Given the description of an element on the screen output the (x, y) to click on. 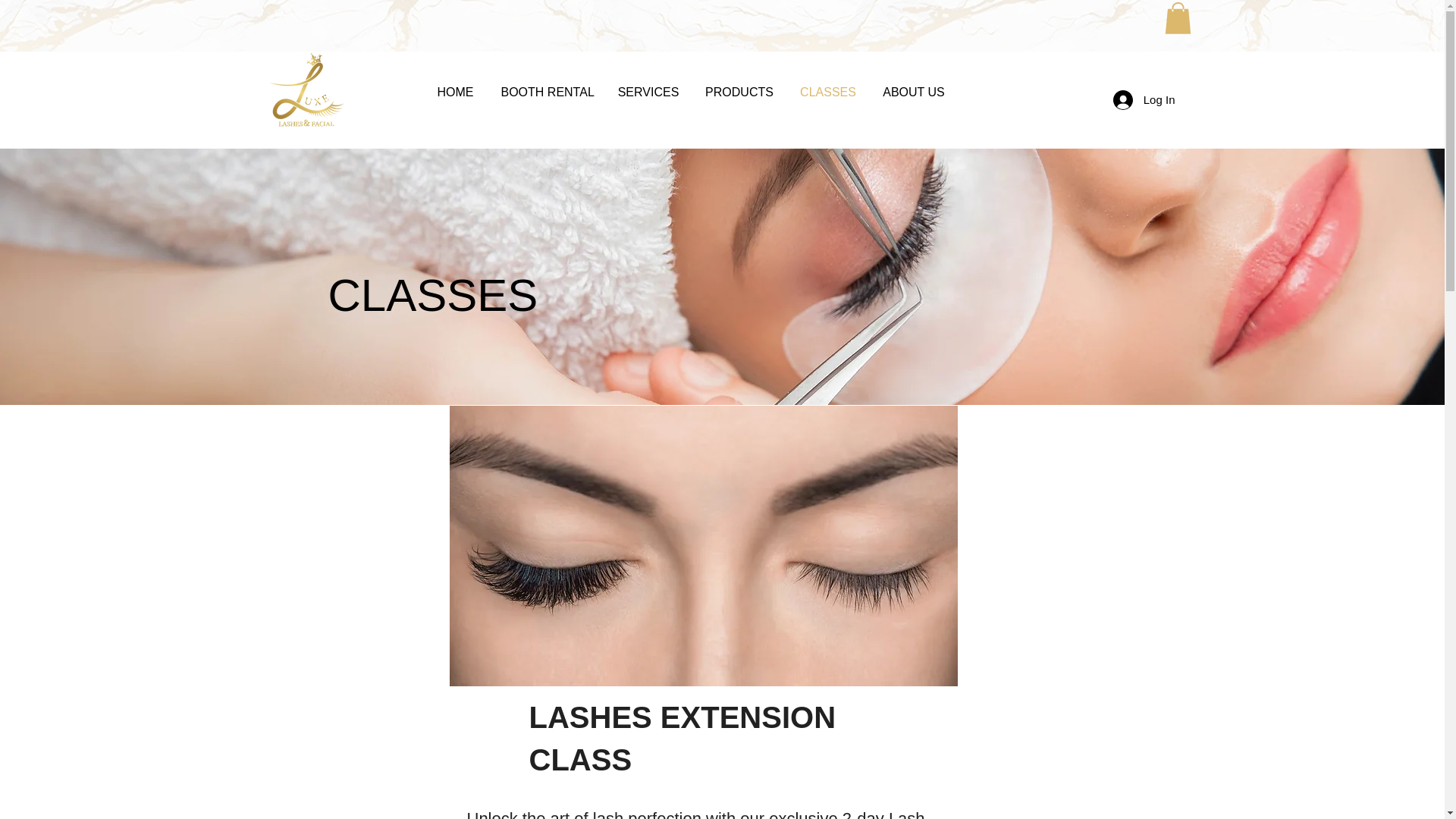
CLASSES (828, 92)
PRODUCTS (738, 92)
Log In (1144, 99)
HOME (455, 92)
ABOUT US (913, 92)
BOOTH RENTAL (547, 92)
